Given the description of an element on the screen output the (x, y) to click on. 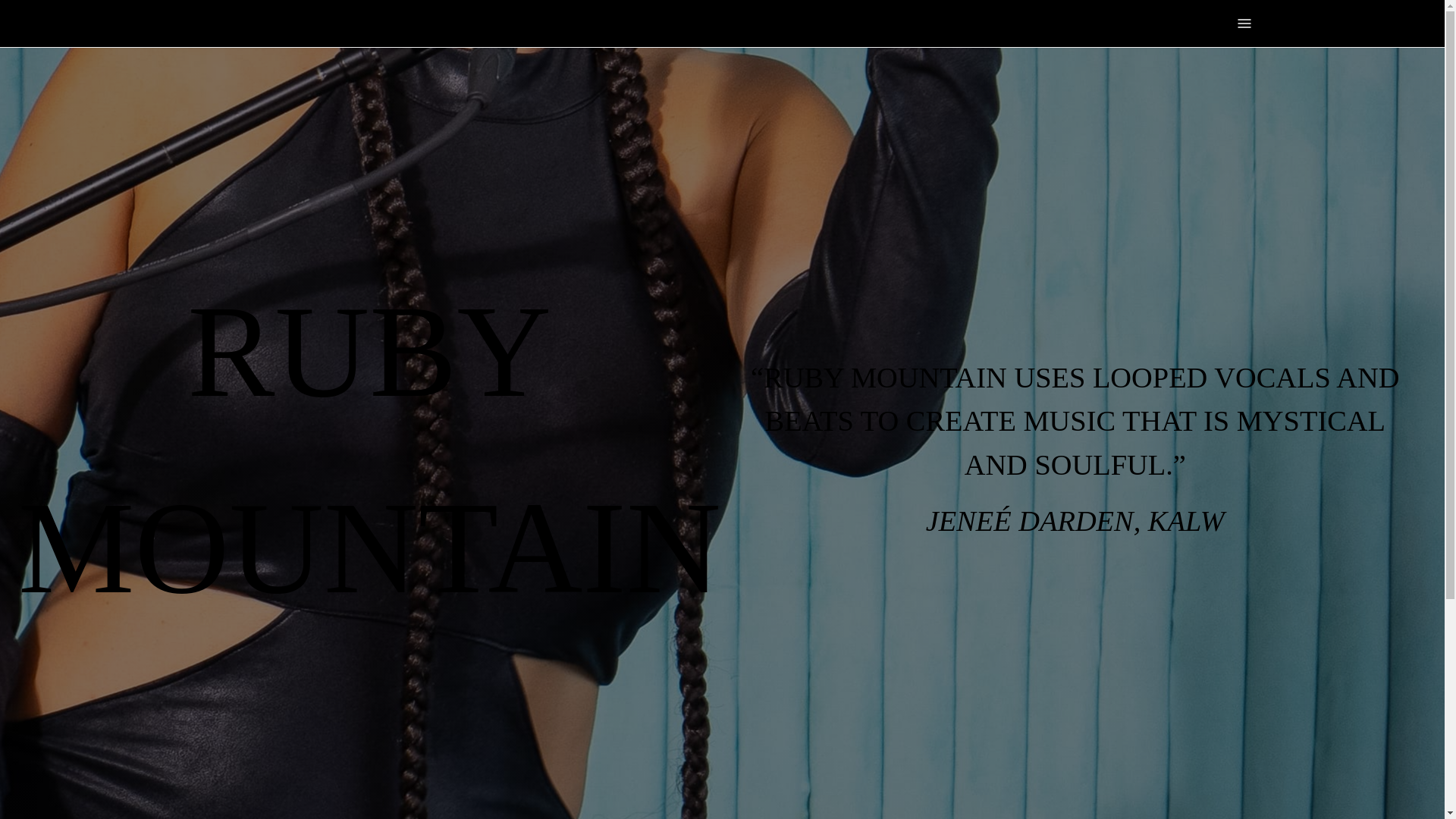
PRESS (725, 22)
RUBY MOUNTAIN (252, 23)
MUSIC (616, 22)
CONTACT (922, 22)
EPK (871, 22)
SHOWS (779, 22)
NFTS (829, 22)
VIDEOS (670, 22)
